Given the description of an element on the screen output the (x, y) to click on. 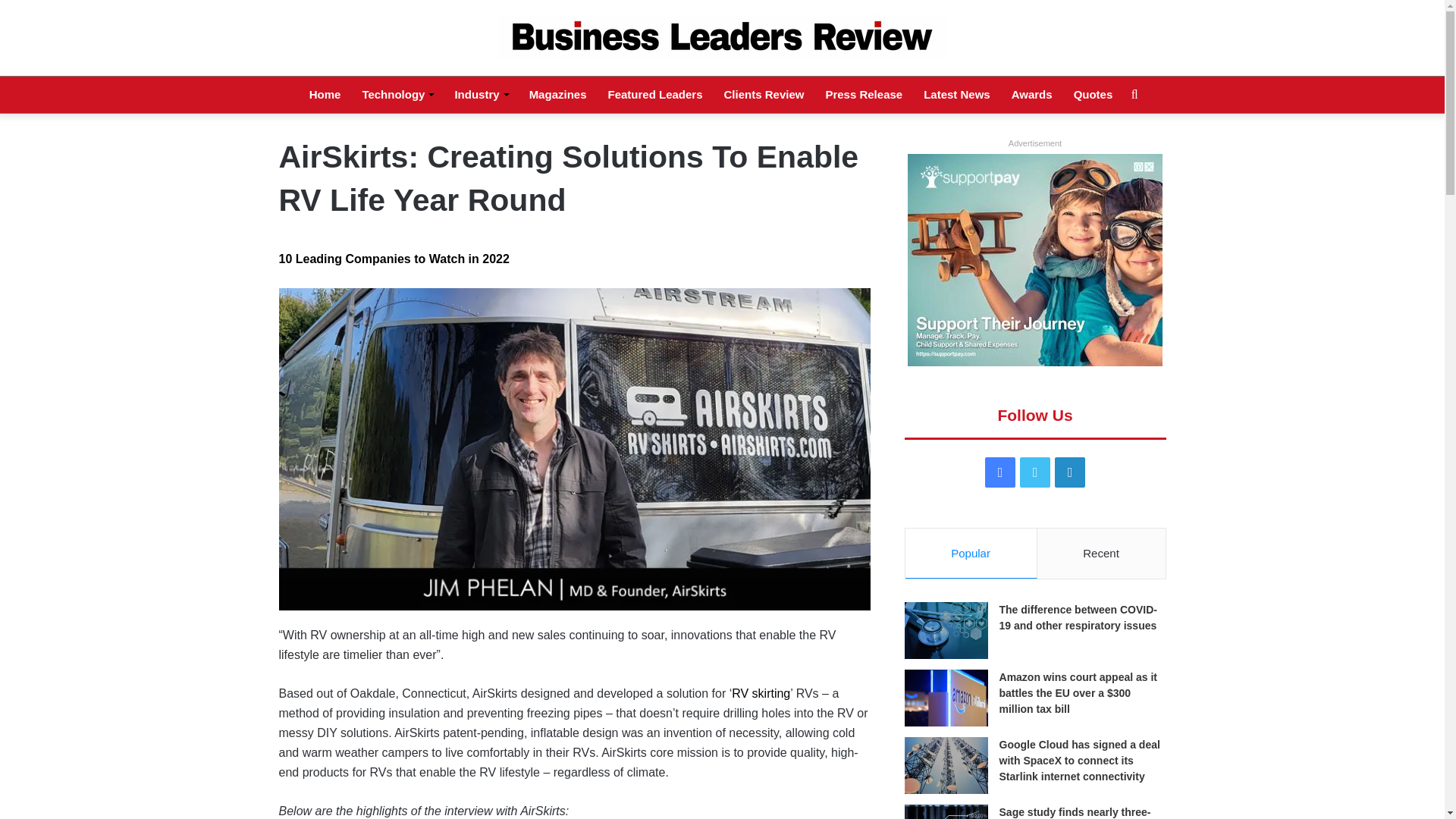
Business Leaders Review (721, 37)
Awards (1031, 94)
Industry (481, 94)
Magazines (557, 94)
Quotes (1093, 94)
Press Release (862, 94)
10 Leading Companies to Watch in 2022 (394, 258)
Home (325, 94)
Latest News (956, 94)
Featured Leaders (654, 94)
Technology (397, 94)
Clients Review (764, 94)
